Given the description of an element on the screen output the (x, y) to click on. 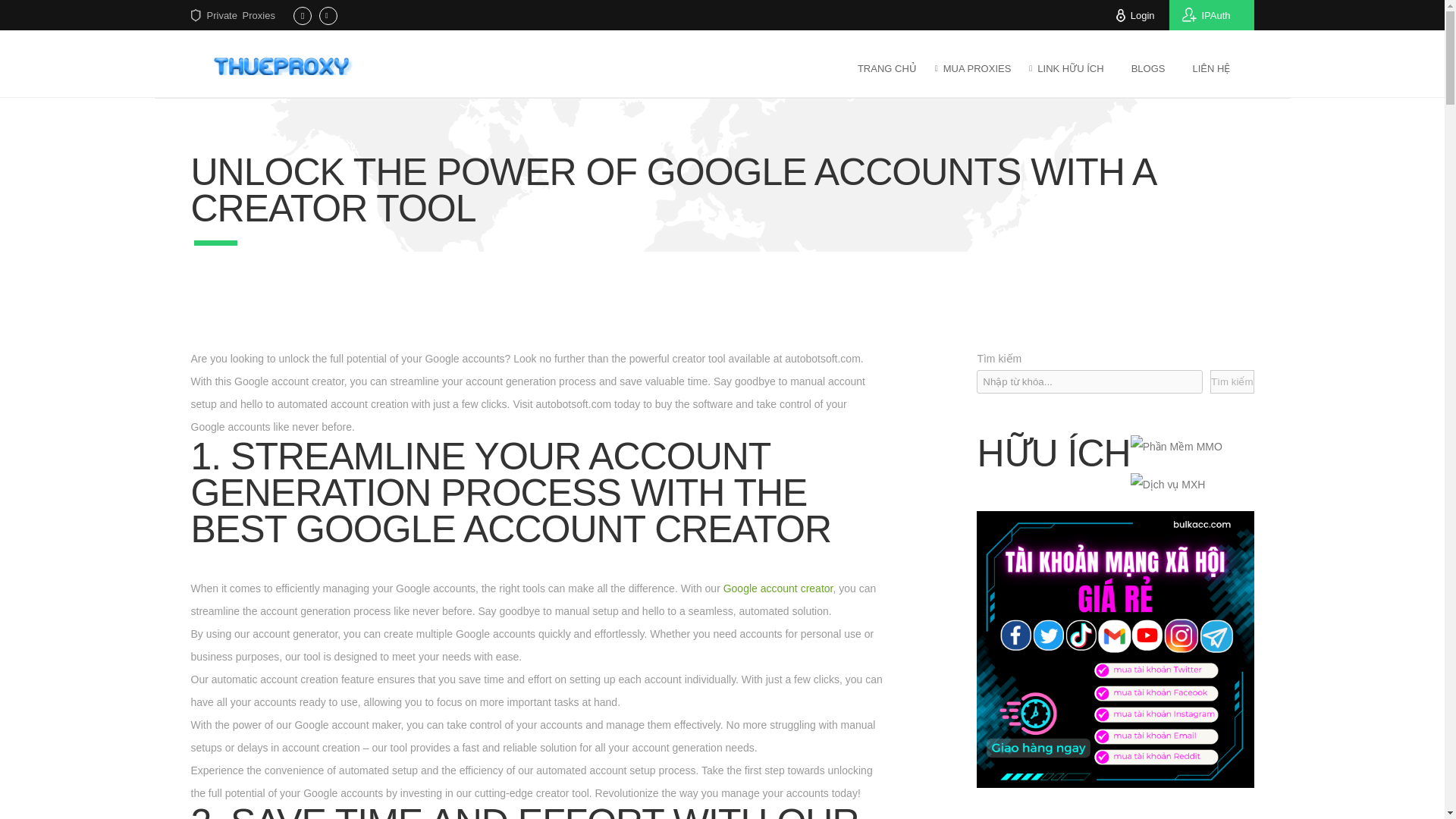
IPAuth (1211, 15)
Login (1142, 15)
MUA PROXIES (977, 67)
Go to homepage (285, 65)
BLOGS (1148, 67)
Google account creator (777, 588)
